Given the description of an element on the screen output the (x, y) to click on. 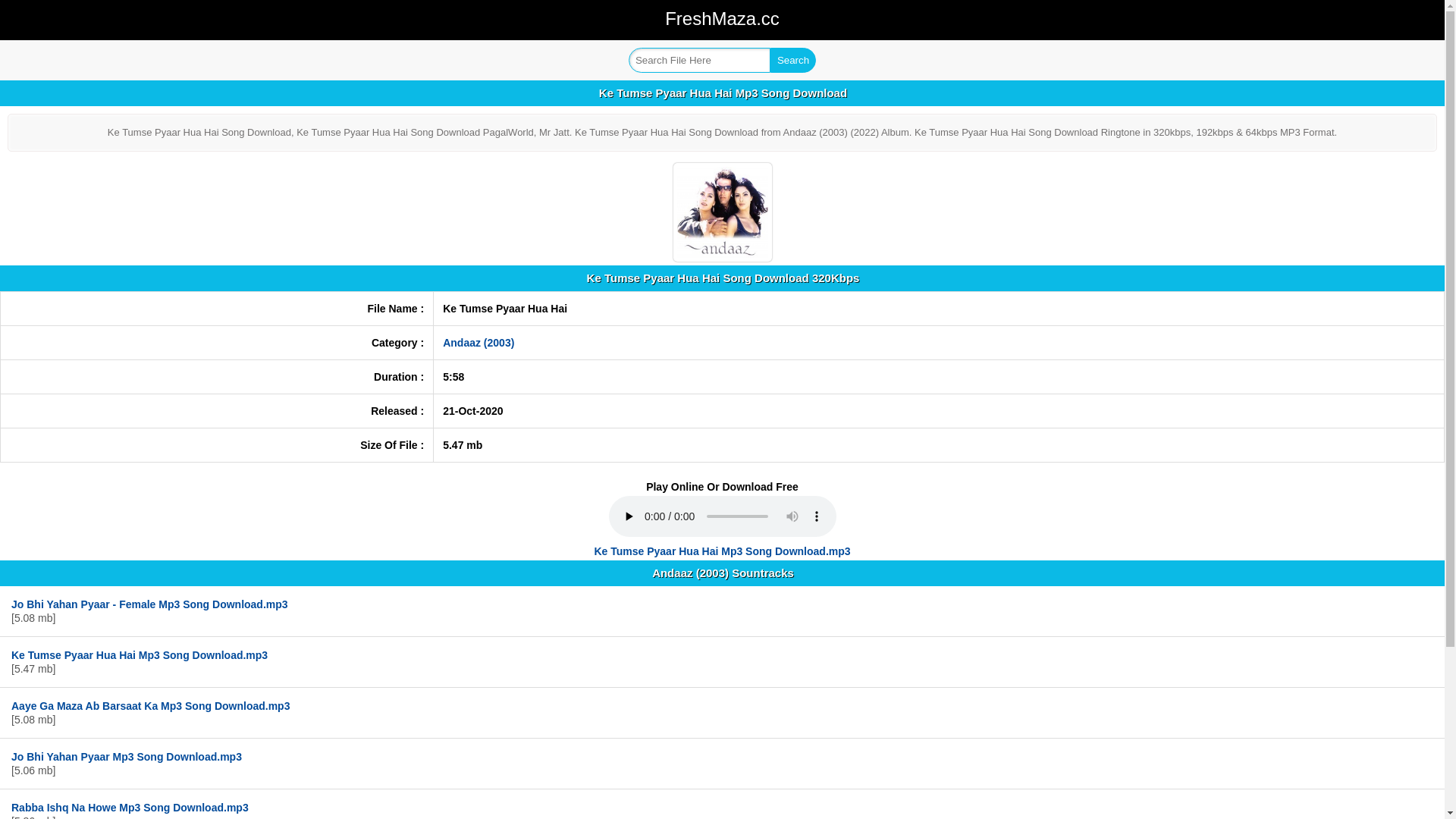
Aaye Ga Maza Ab Barsaat Ka Mp3 Song Download.mp3
[5.08 mb] Element type: text (722, 712)
Search Element type: text (792, 59)
Jo Bhi Yahan Pyaar Mp3 Song Download.mp3
[5.06 mb] Element type: text (722, 763)
FreshMaza.cc Element type: text (722, 21)
Jo Bhi Yahan Pyaar - Female Mp3 Song Download.mp3
[5.08 mb] Element type: text (722, 611)
Ke Tumse Pyaar Hua Hai Mp3 Song Download.mp3 Element type: text (721, 551)
Andaaz (2003) Element type: text (478, 342)
Ke Tumse Pyaar Hua Hai Mp3 Song Download.mp3
[5.47 mb] Element type: text (722, 662)
